Given the description of an element on the screen output the (x, y) to click on. 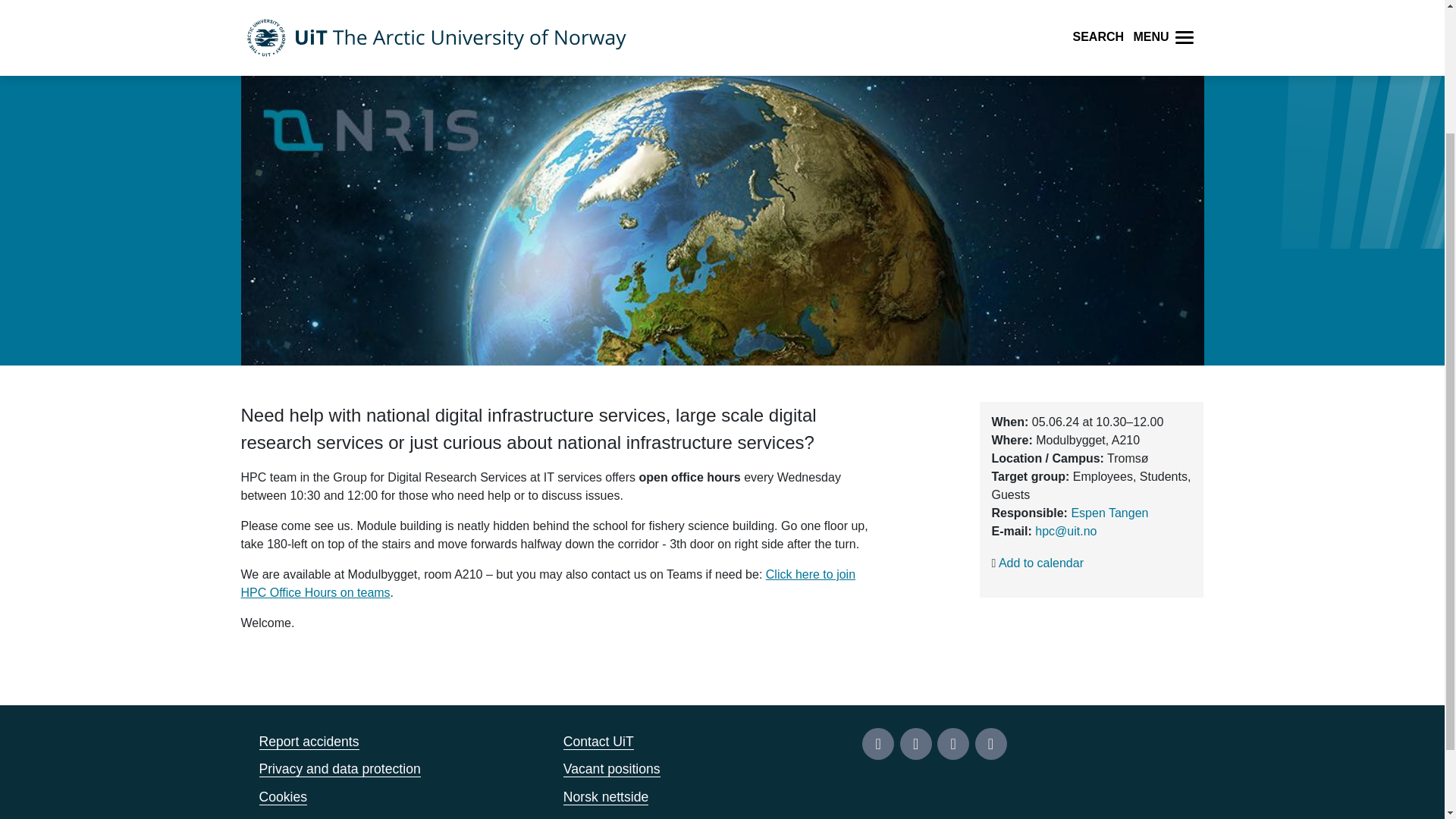
UiT Facebook (877, 744)
UiT Instagram (915, 744)
UiT Youtube (991, 744)
UiT Twitter (953, 744)
